Given the description of an element on the screen output the (x, y) to click on. 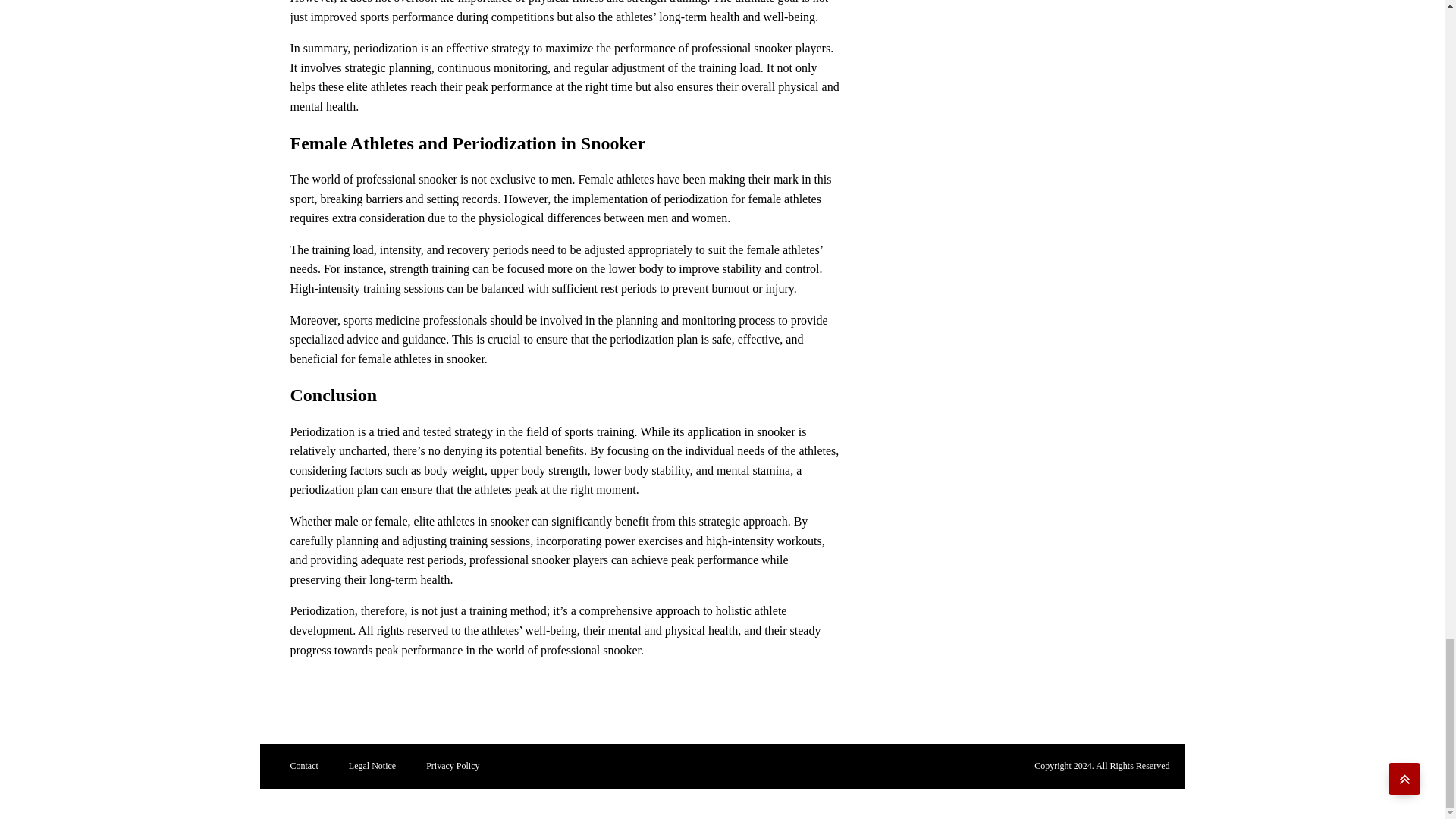
Privacy Policy (452, 766)
Contact (304, 766)
Legal Notice (371, 766)
